Given the description of an element on the screen output the (x, y) to click on. 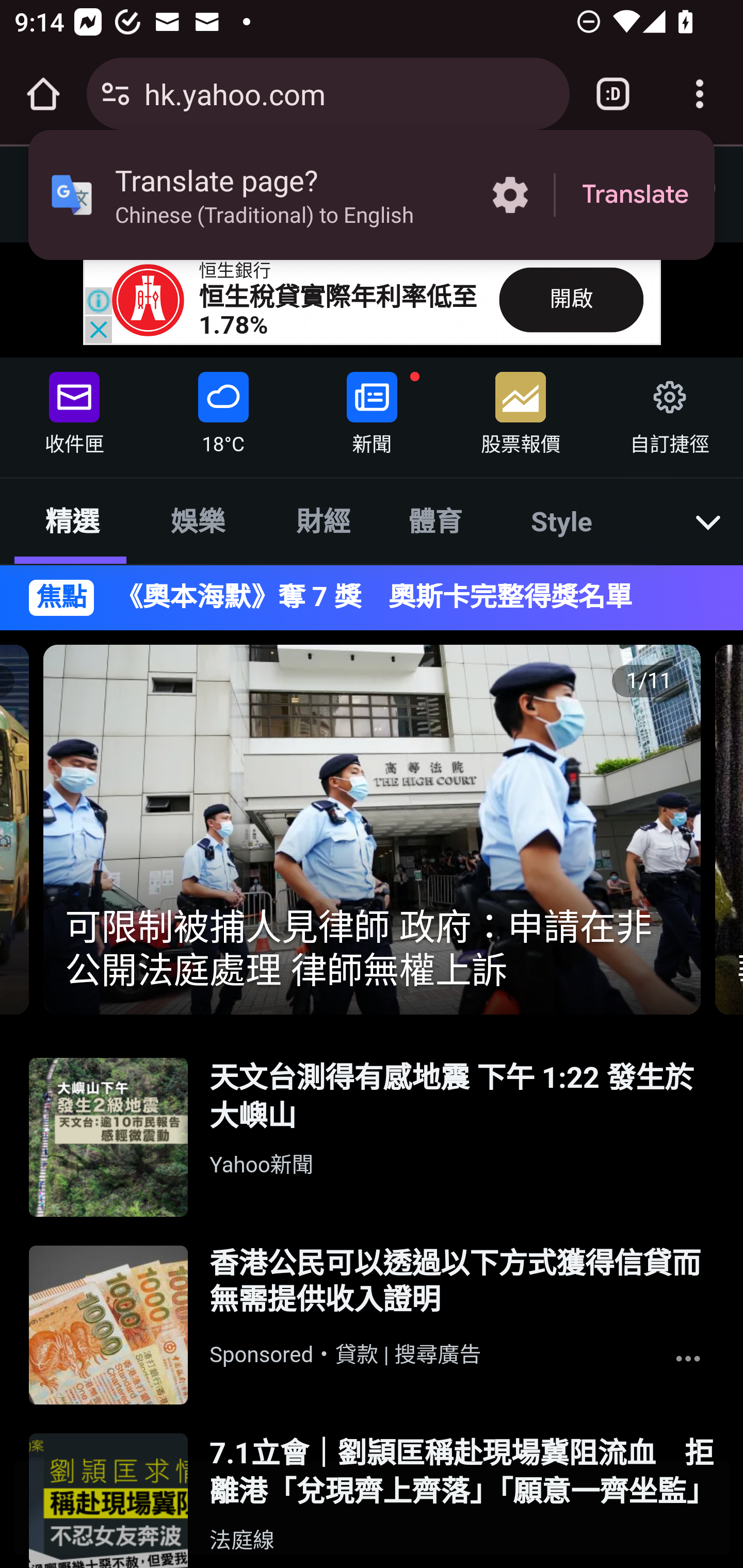
Open the home page (43, 93)
Connection is secure (115, 93)
Switch or close tabs (612, 93)
Customize and control Google Chrome (699, 93)
hk.yahoo.com (349, 92)
Translate (634, 195)
More options in the Translate page? (509, 195)
sidebar (68, 185)
恒生銀行 (235, 271)
開啟 (571, 299)
恒生稅貸實際年利率低至 1.78% 恒生稅貸實際年利率低至 1.78% (338, 311)
icon-mail 收件匣 icon-mail 收件匣 (74, 408)
weather 18°C weather 18 °C (222, 408)
icon-news 新聞 icon-news 新聞 (372, 408)
icon-finance-quote 股票報價 icon-finance-quote 股票報價 (520, 408)
icon-settings 自訂捷徑 icon-settings 自訂捷徑 (668, 408)
精選 (72, 520)
娛樂 (196, 520)
財經 (323, 520)
體育 (434, 520)
Style (562, 520)
《奧本海默》奪 7 獎　奧斯卡完整得獎名單 (404, 596)
